Given the description of an element on the screen output the (x, y) to click on. 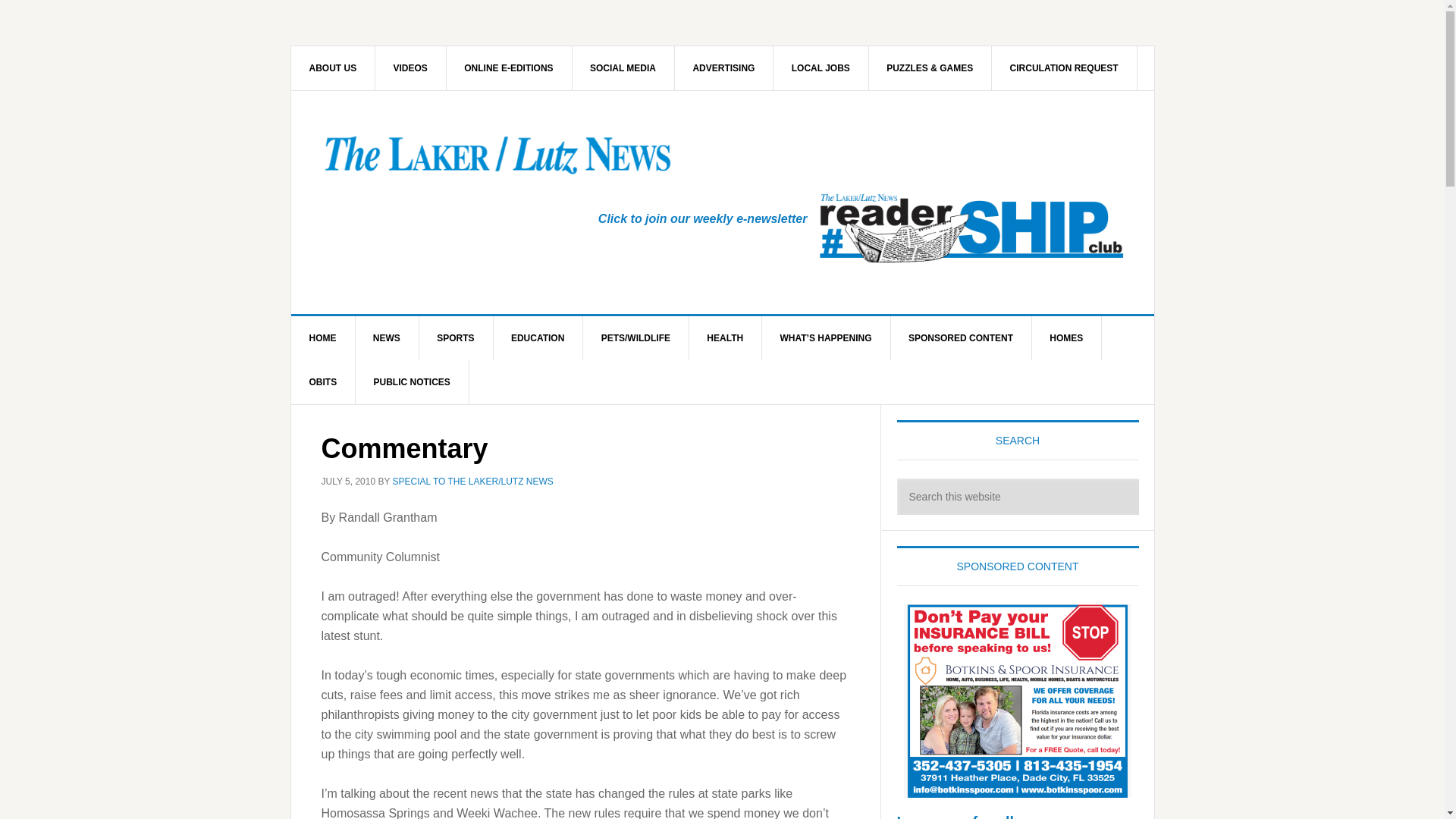
CIRCULATION REQUEST (1064, 67)
Click to join our weekly e-newsletter (703, 218)
ONLINE E-EDITIONS (508, 67)
HOME (323, 338)
SOCIAL MEDIA (623, 67)
ADVERTISING (723, 67)
NEWS (387, 338)
ABOUT US (333, 67)
VIDEOS (410, 67)
